Given the description of an element on the screen output the (x, y) to click on. 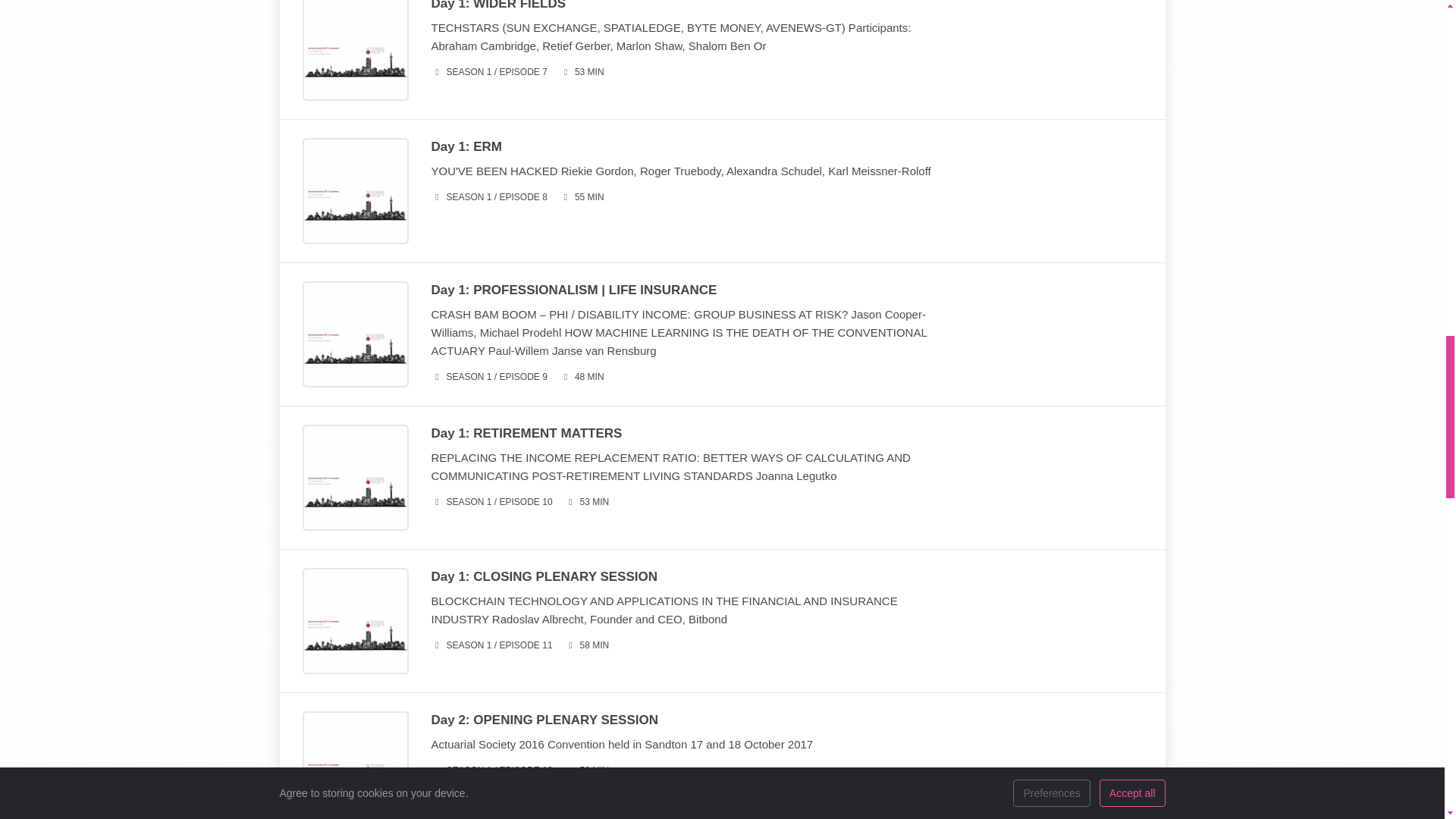
Episode number (488, 197)
Episode number (488, 72)
Duration (581, 72)
